Given the description of an element on the screen output the (x, y) to click on. 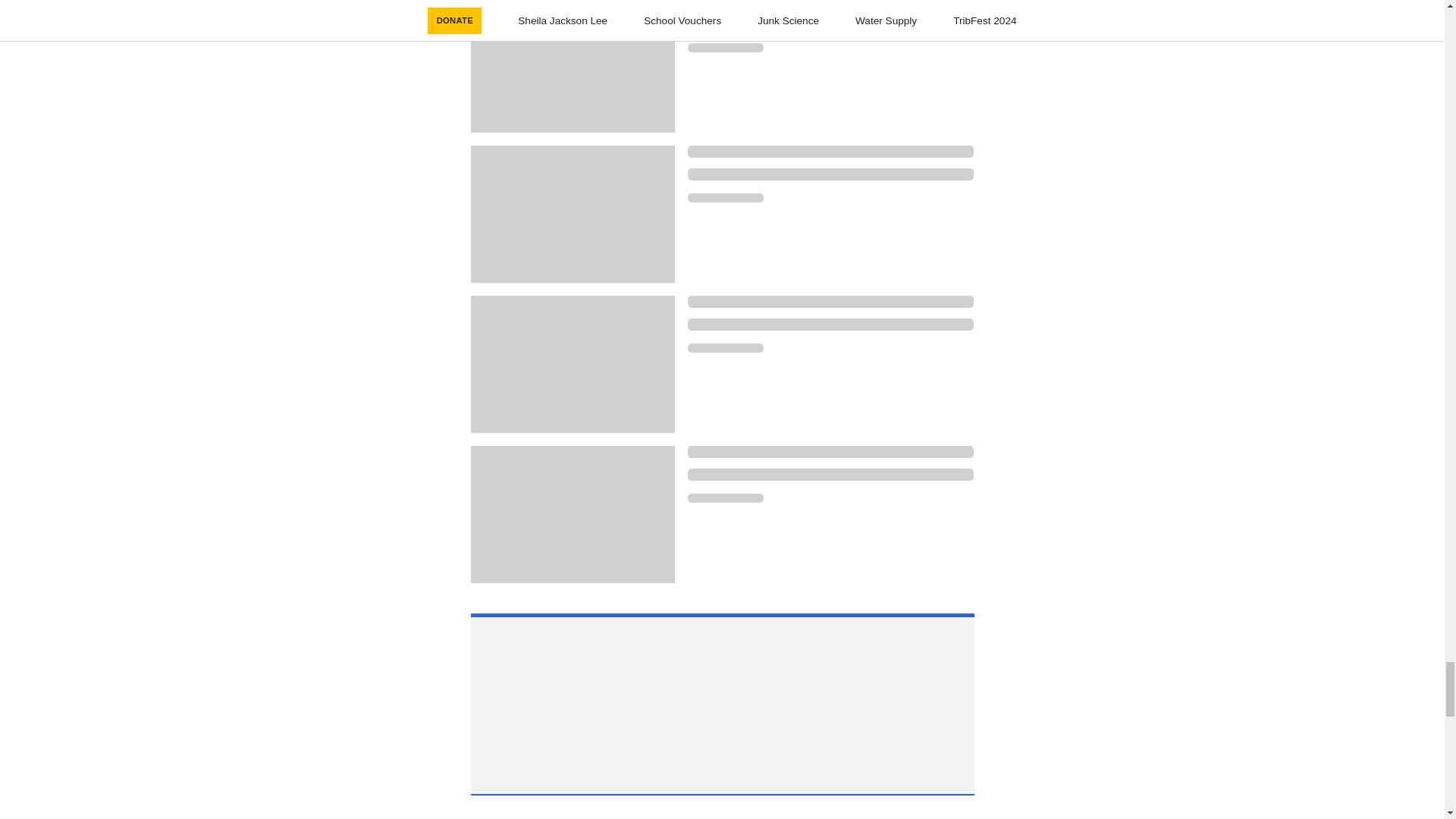
Loading indicator (830, 24)
Loading indicator (830, 451)
Loading indicator (724, 347)
Loading indicator (724, 197)
Loading indicator (830, 301)
Loading indicator (830, 151)
Loading indicator (830, 3)
Loading indicator (724, 497)
Loading indicator (724, 47)
Loading indicator (830, 474)
Loading indicator (830, 324)
Loading indicator (830, 174)
